Given the description of an element on the screen output the (x, y) to click on. 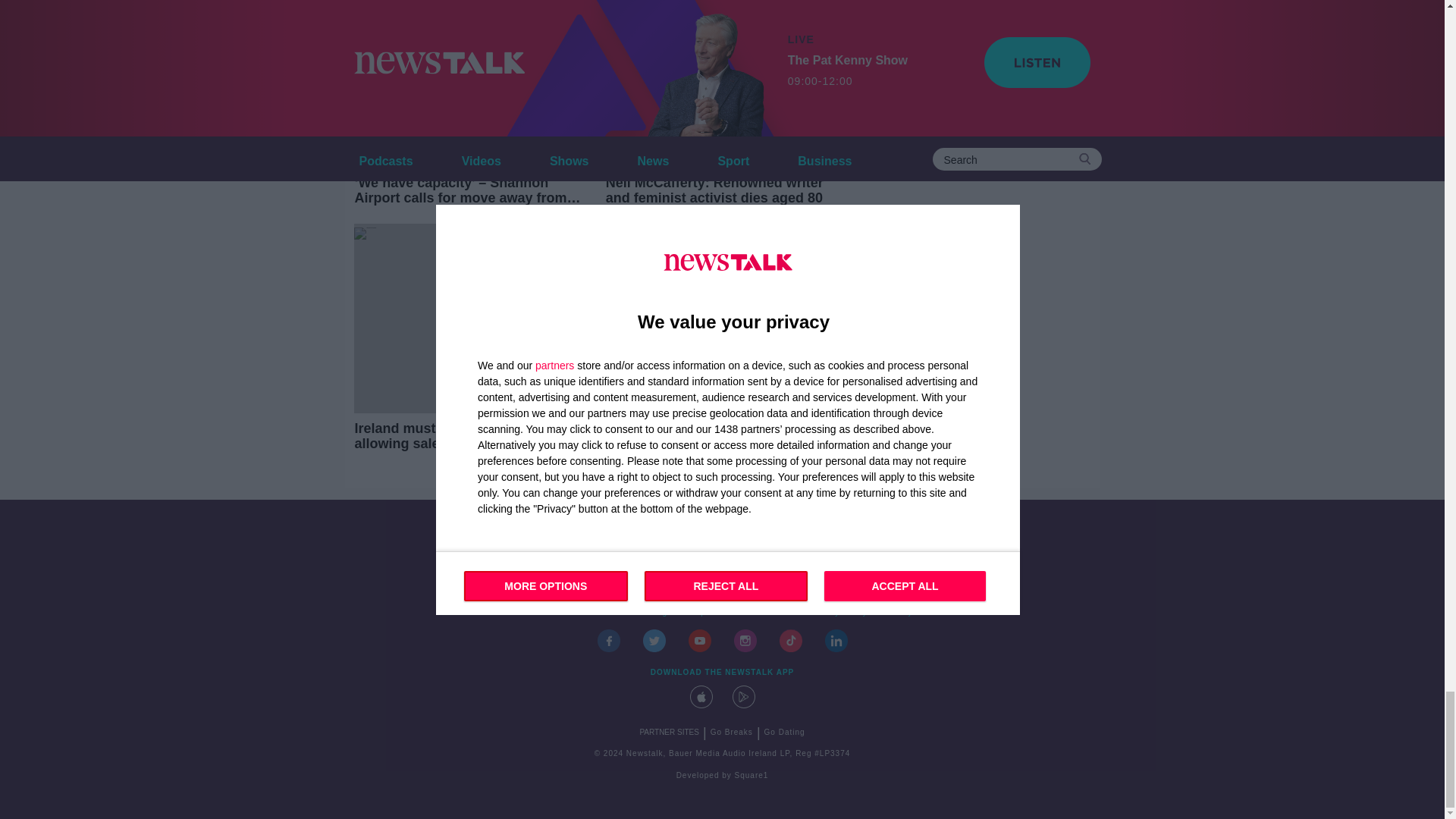
advertising (644, 612)
events (592, 612)
contact (547, 612)
competitions (708, 612)
Privacy (897, 612)
site terms (772, 612)
Privacy Policy (838, 612)
